Given the description of an element on the screen output the (x, y) to click on. 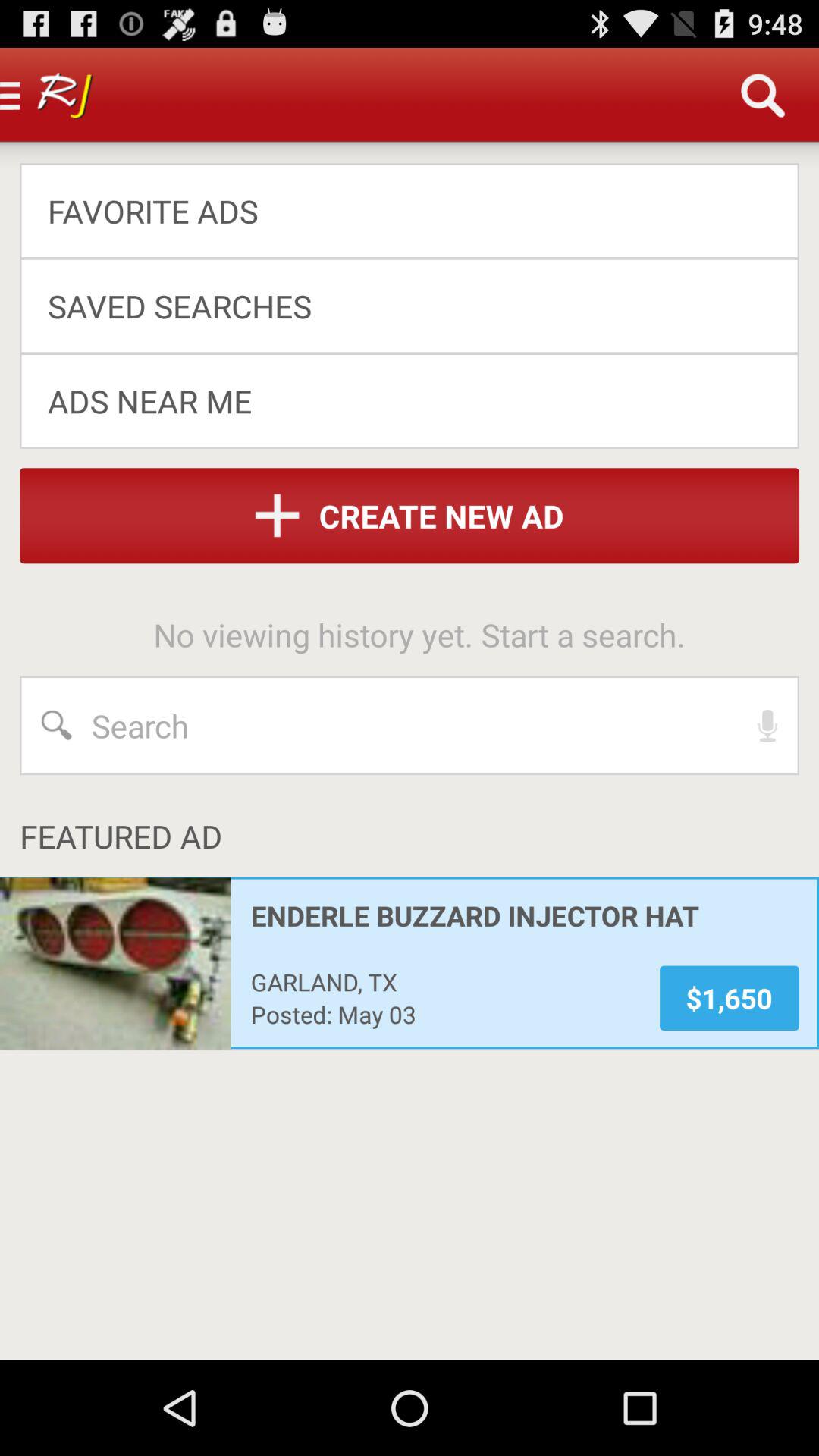
tap the app at the bottom right corner (729, 997)
